Given the description of an element on the screen output the (x, y) to click on. 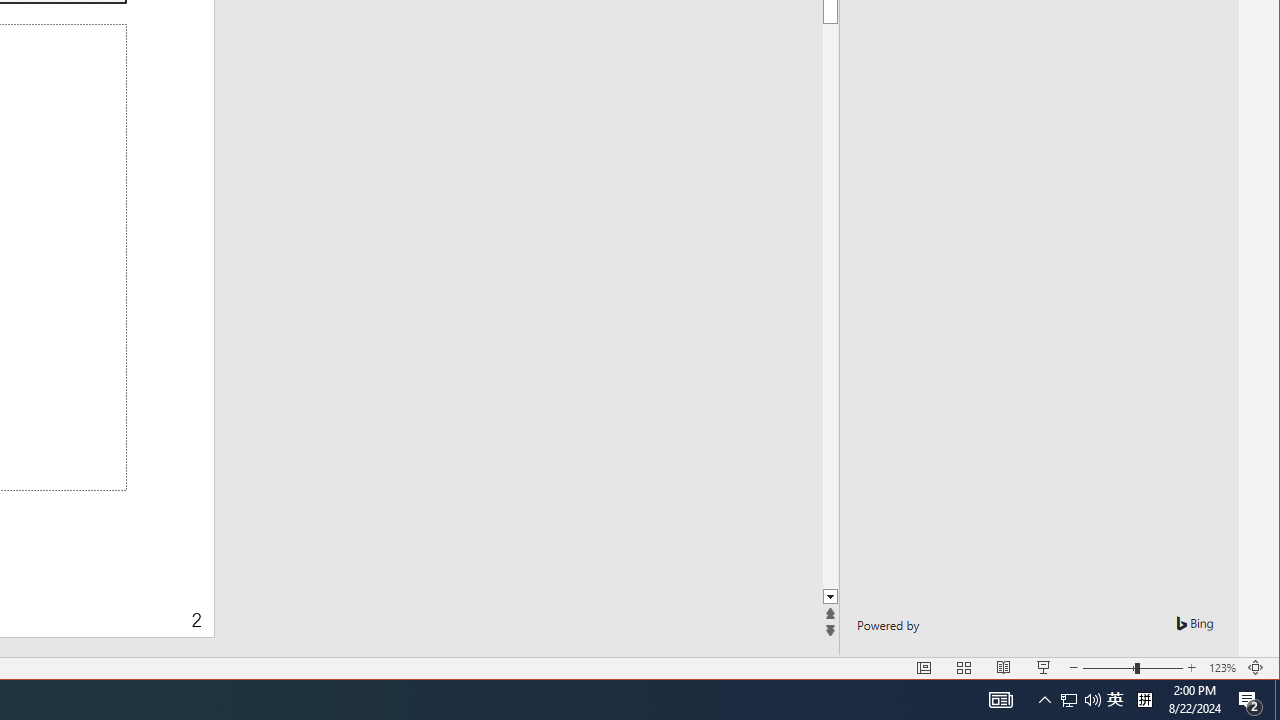
Zoom 123% (1222, 668)
